Given the description of an element on the screen output the (x, y) to click on. 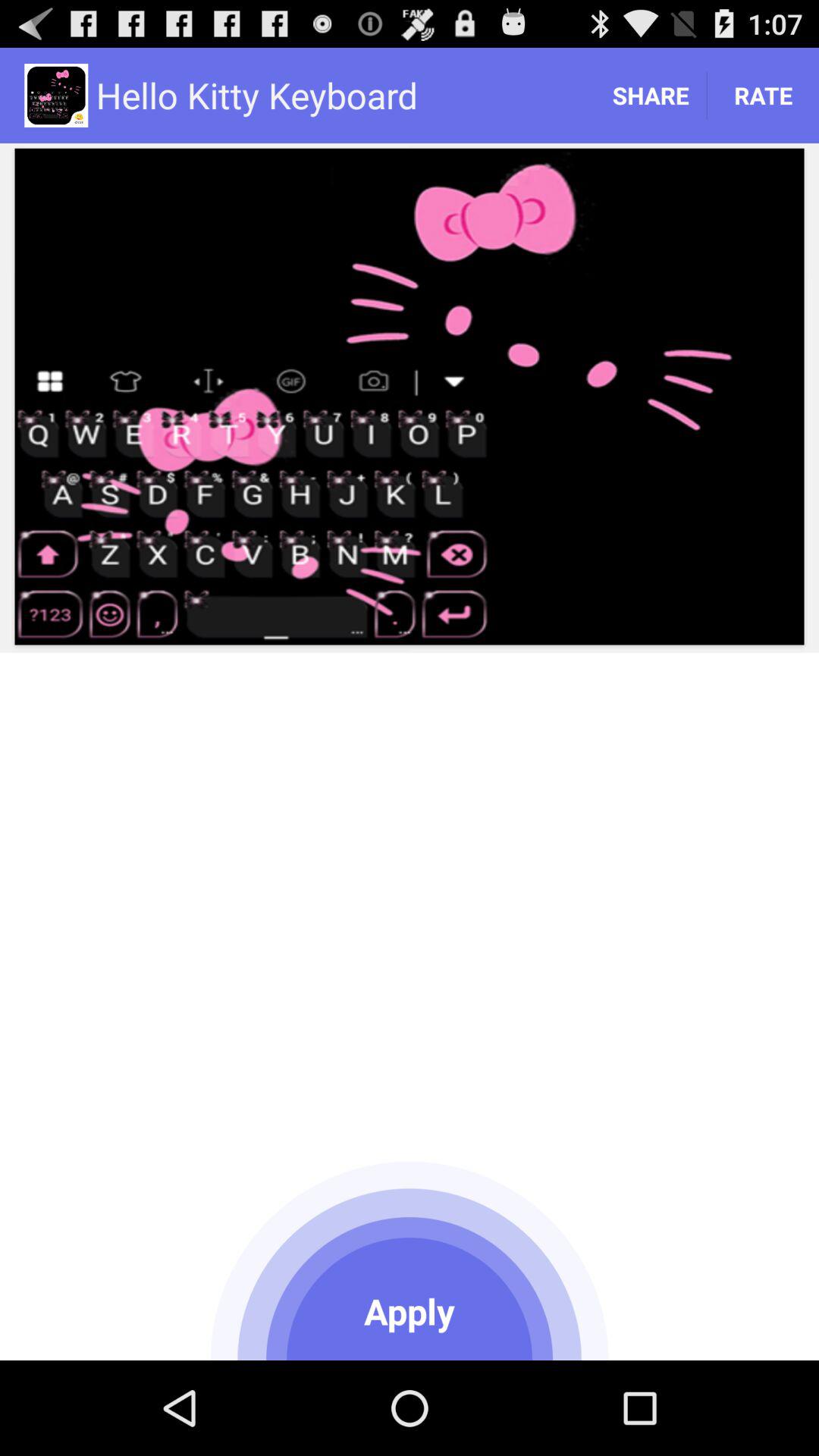
turn off icon to the right of share item (763, 95)
